Given the description of an element on the screen output the (x, y) to click on. 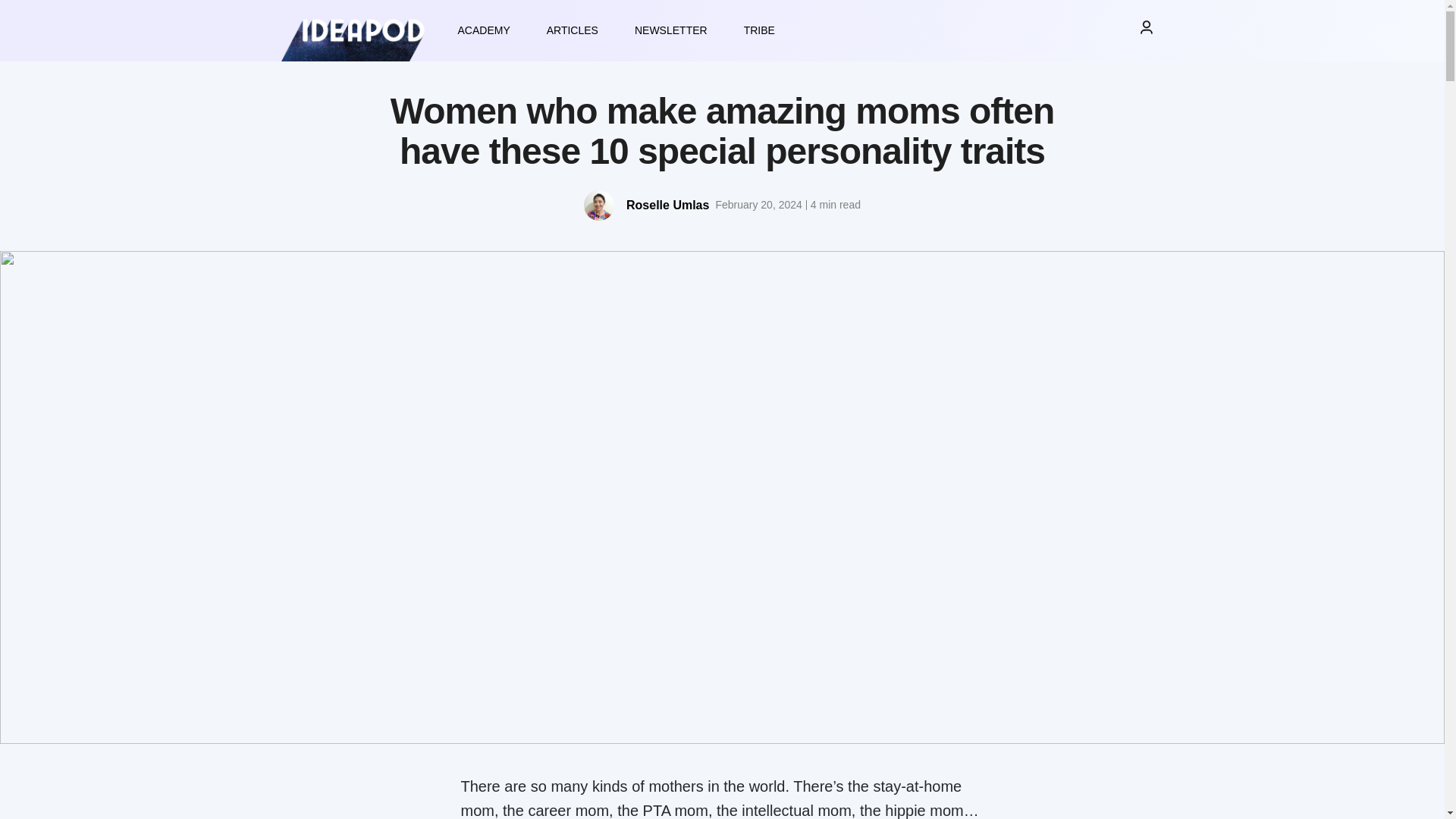
ACADEMY (483, 30)
NEWSLETTER (670, 30)
ARTICLES (571, 30)
